Given the description of an element on the screen output the (x, y) to click on. 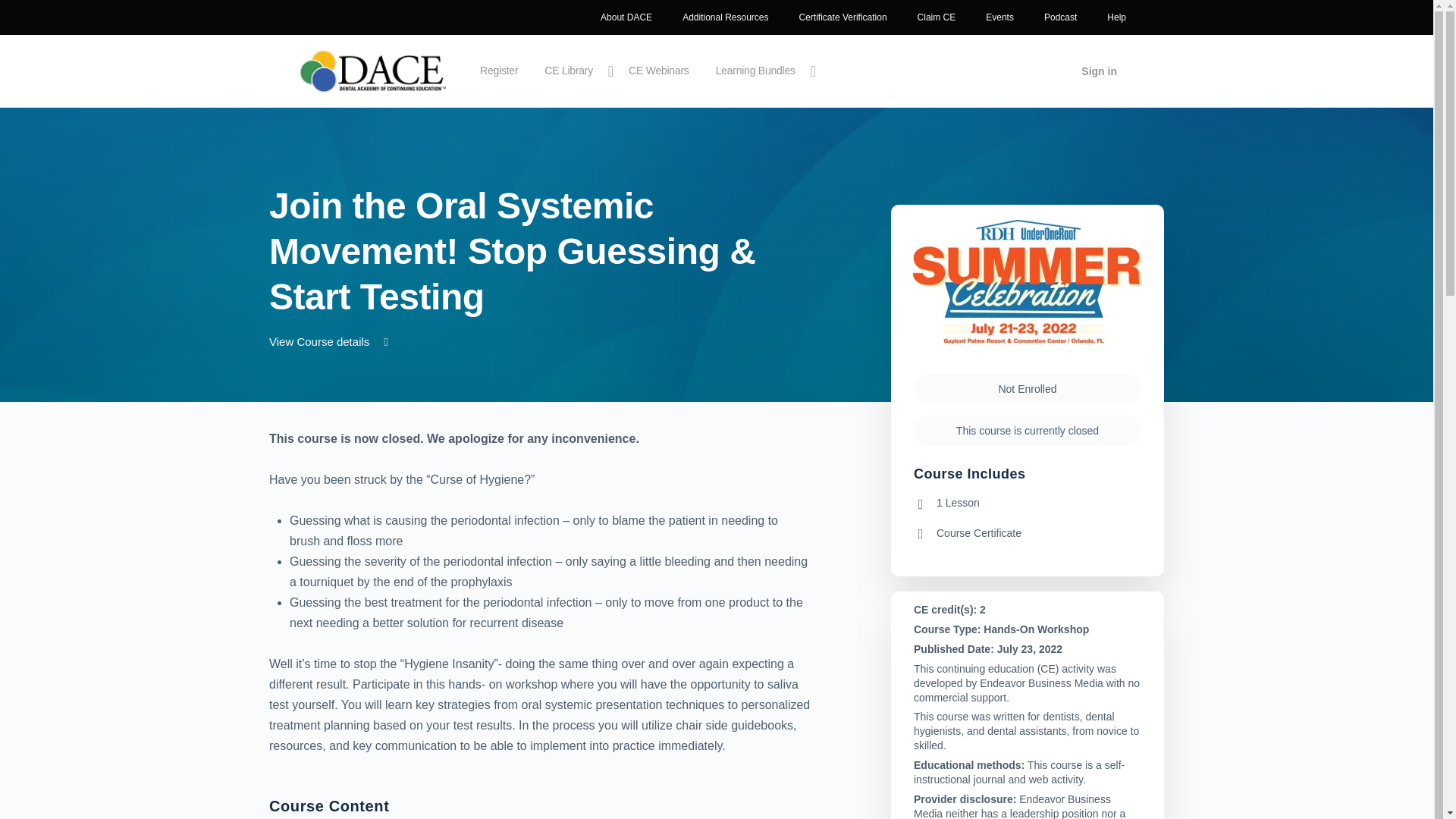
CE Library (574, 70)
Learning Bundles (761, 70)
Help (1116, 17)
Events (1000, 17)
Register (498, 70)
Claim CE (936, 17)
Certificate Verification (843, 17)
About DACE (625, 17)
Additional Resources (724, 17)
CE Webinars (659, 70)
